Given the description of an element on the screen output the (x, y) to click on. 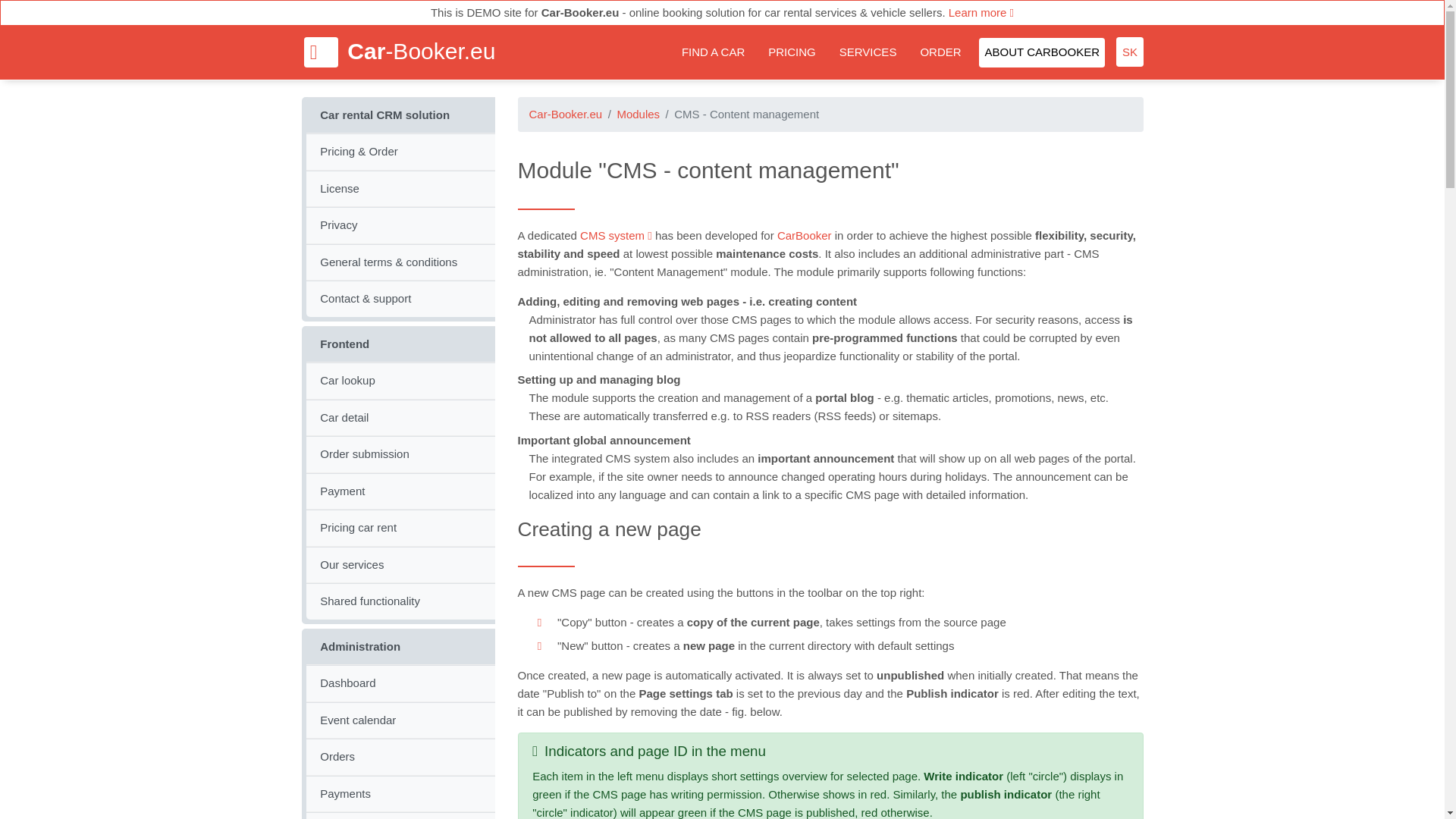
FIND A CAR (712, 52)
Pricing car rent (400, 528)
Dashboard (400, 683)
Event calendar (400, 720)
Learn more (981, 11)
Car-Booker.eu (398, 51)
Payment (400, 491)
Order submission (400, 454)
Our services (400, 564)
License (400, 188)
PRICING (792, 52)
Customers (400, 815)
SERVICES (867, 52)
Slovensky (1129, 51)
Shared functionality (400, 601)
